Given the description of an element on the screen output the (x, y) to click on. 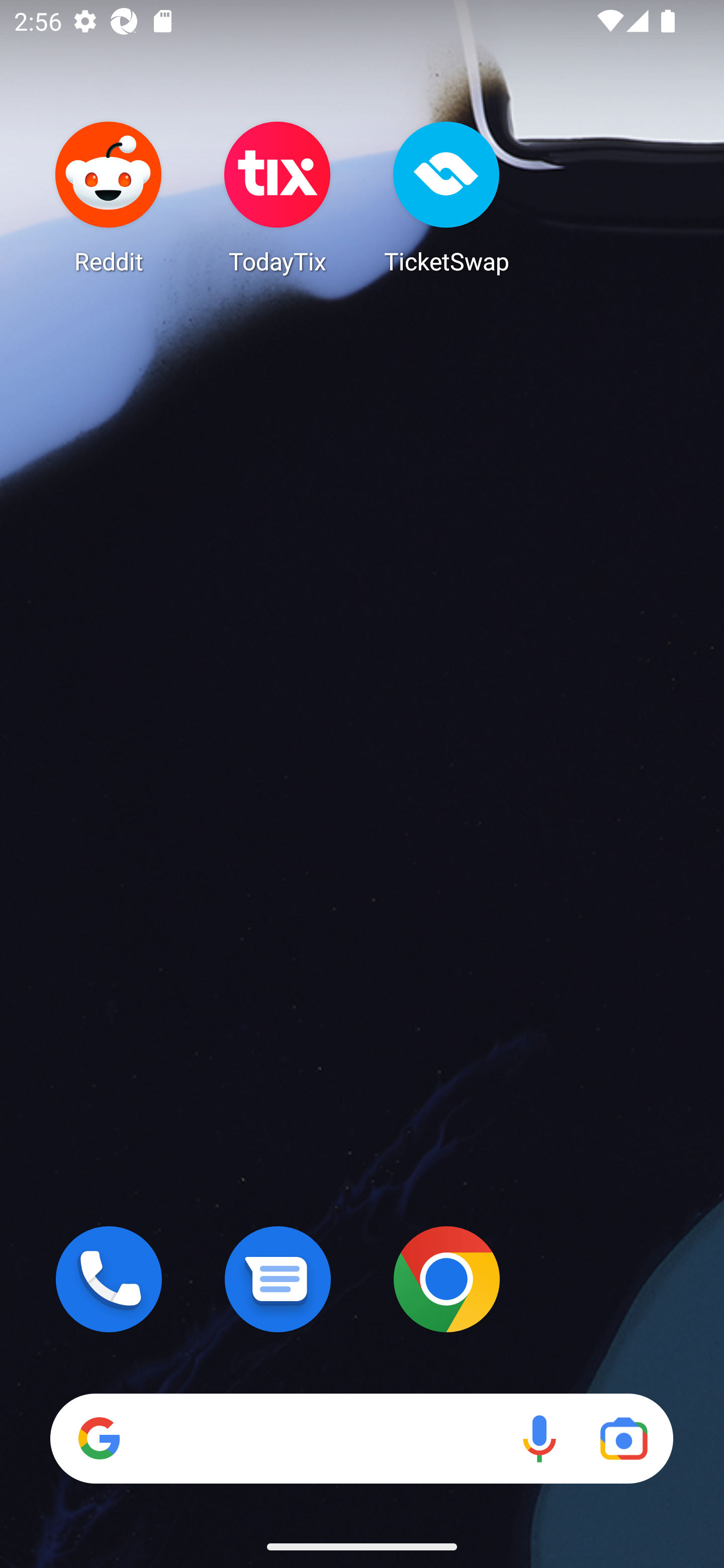
Reddit (108, 196)
TodayTix (277, 196)
TicketSwap (445, 196)
Phone (108, 1279)
Messages (277, 1279)
Chrome (446, 1279)
Voice search (539, 1438)
Google Lens (623, 1438)
